Given the description of an element on the screen output the (x, y) to click on. 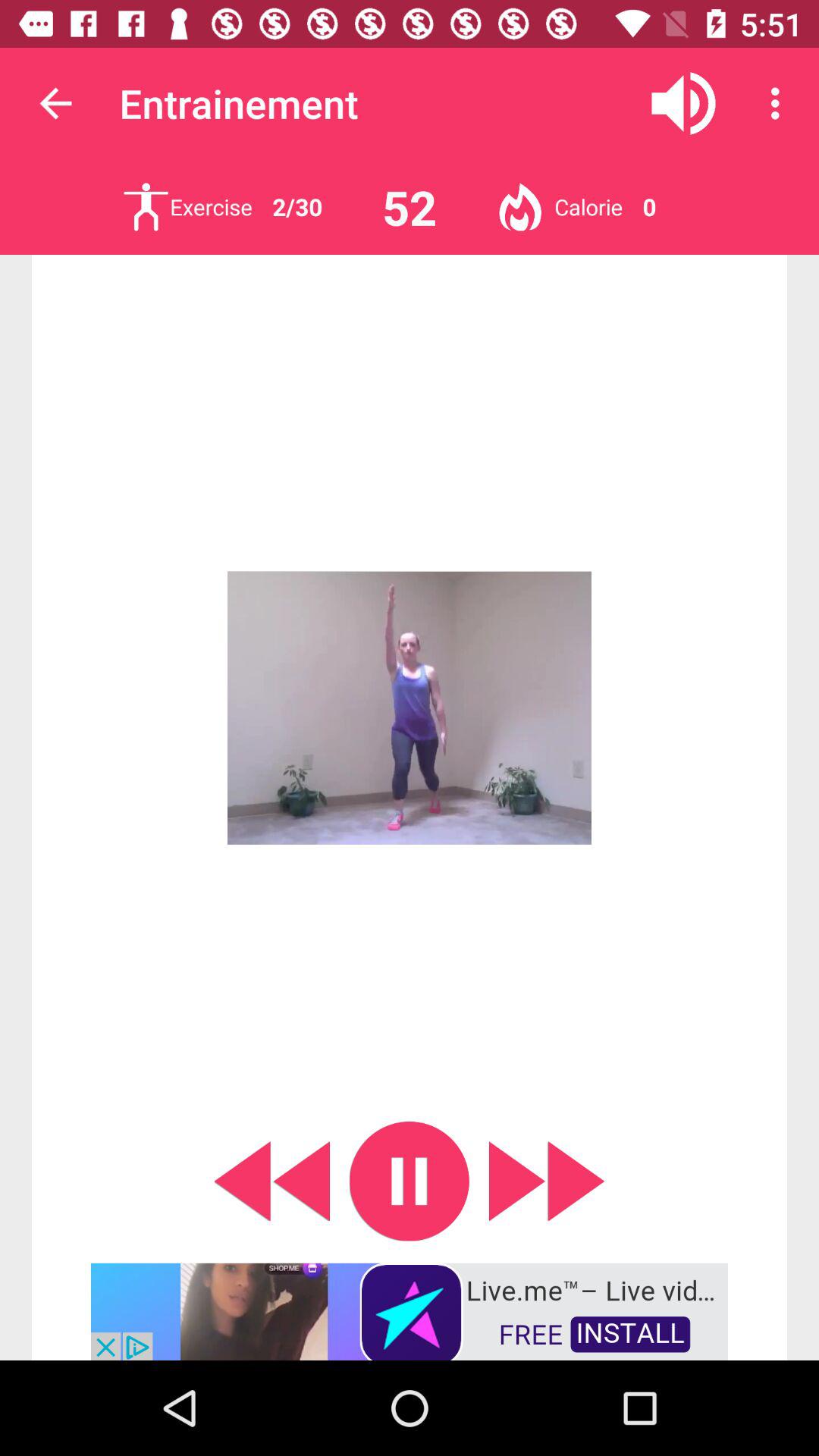
exercise viewers (146, 206)
